Given the description of an element on the screen output the (x, y) to click on. 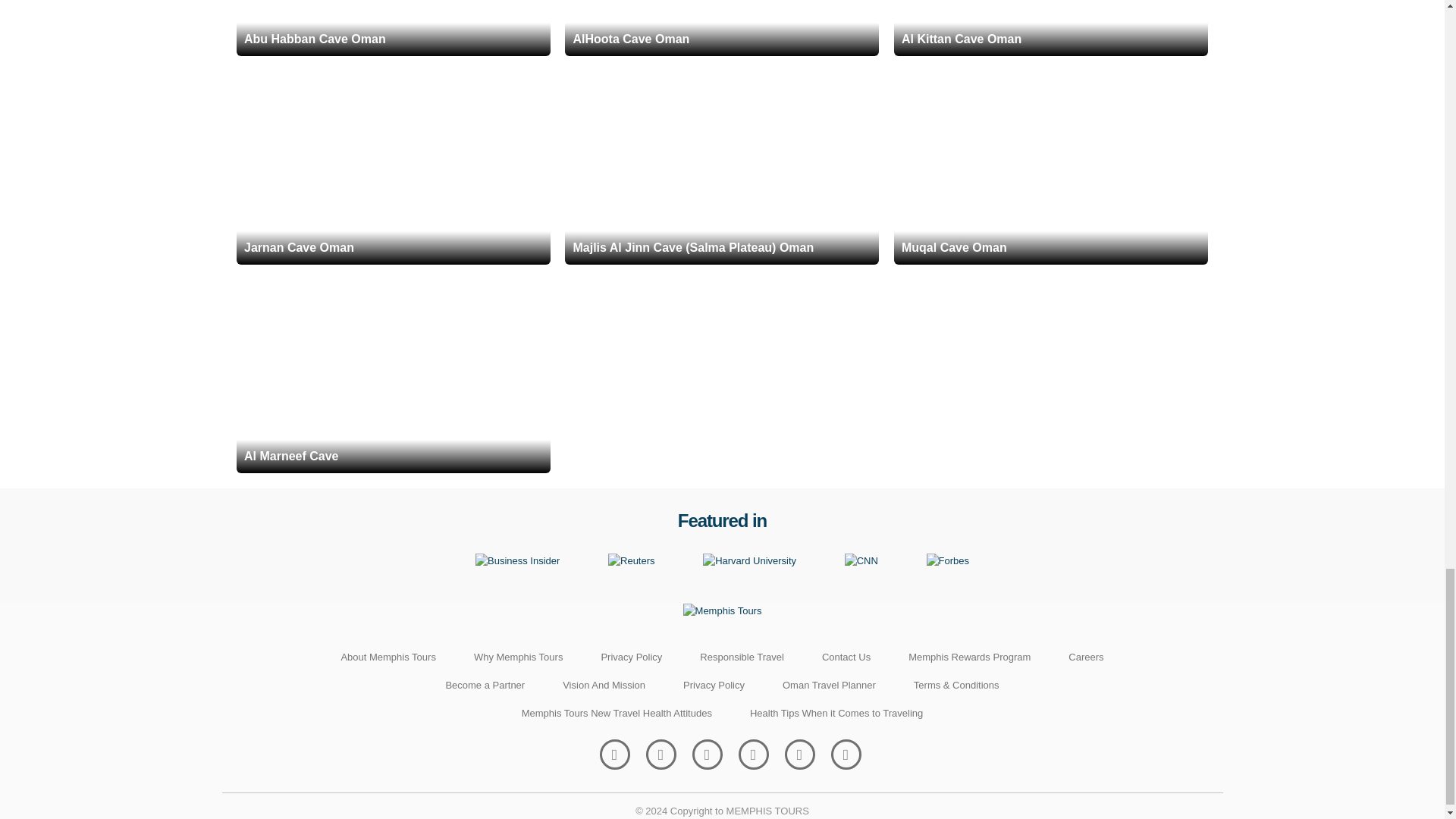
Why Memphis Tours (518, 656)
Contact Us  (846, 656)
Memphis Tours (721, 611)
Reuters (631, 560)
Harvard University (749, 560)
Business Insider (517, 560)
About Memphis Tours (387, 656)
Forbes (947, 560)
Privacy Policy (630, 656)
Responsible Travel (742, 656)
